Given the description of an element on the screen output the (x, y) to click on. 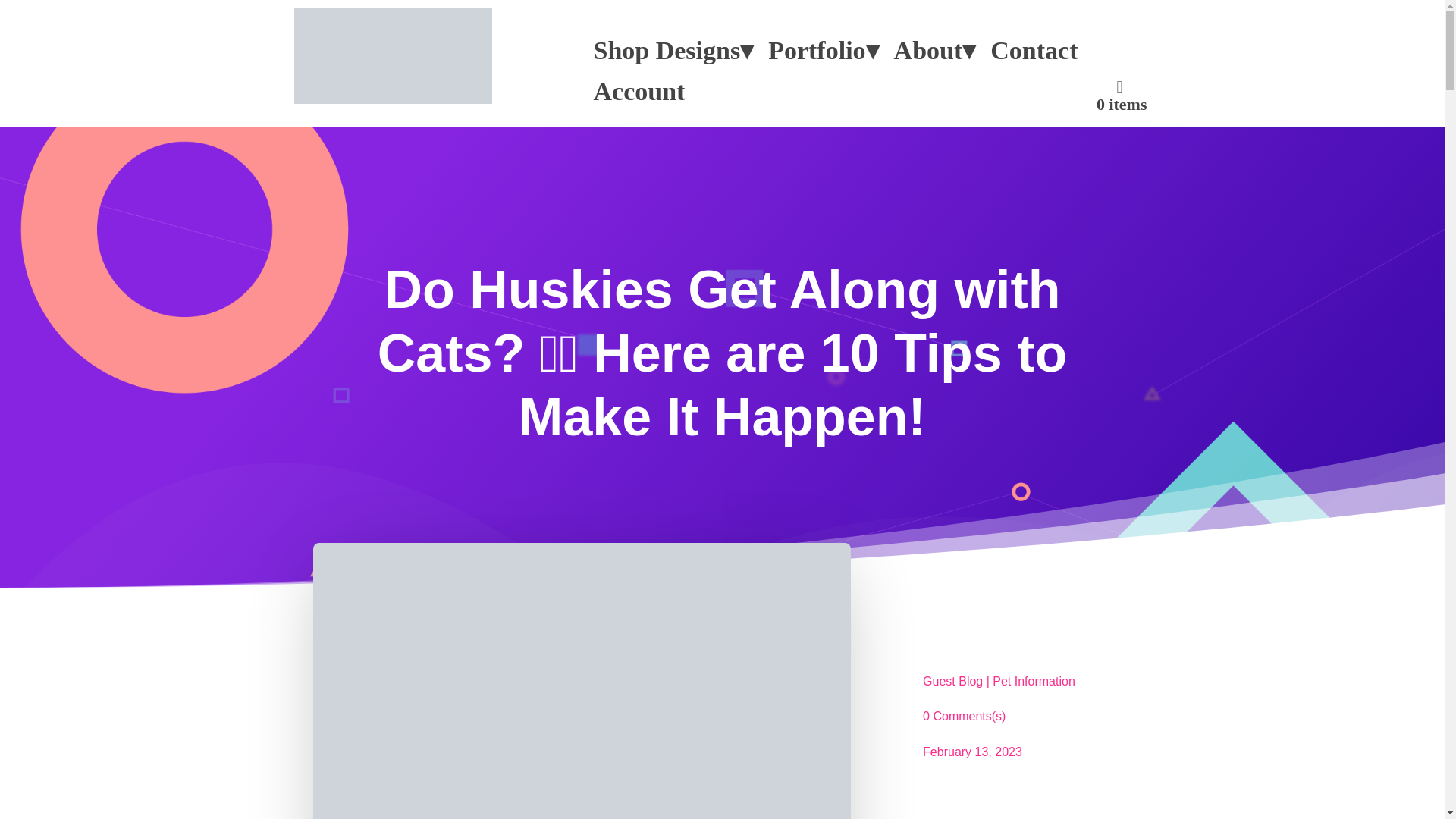
0 items (1121, 92)
Contact (1033, 50)
Splendid Beast (428, 55)
Start shopping (1121, 92)
Pet Information (1033, 684)
Account (639, 91)
Guest Blog (952, 684)
